Given the description of an element on the screen output the (x, y) to click on. 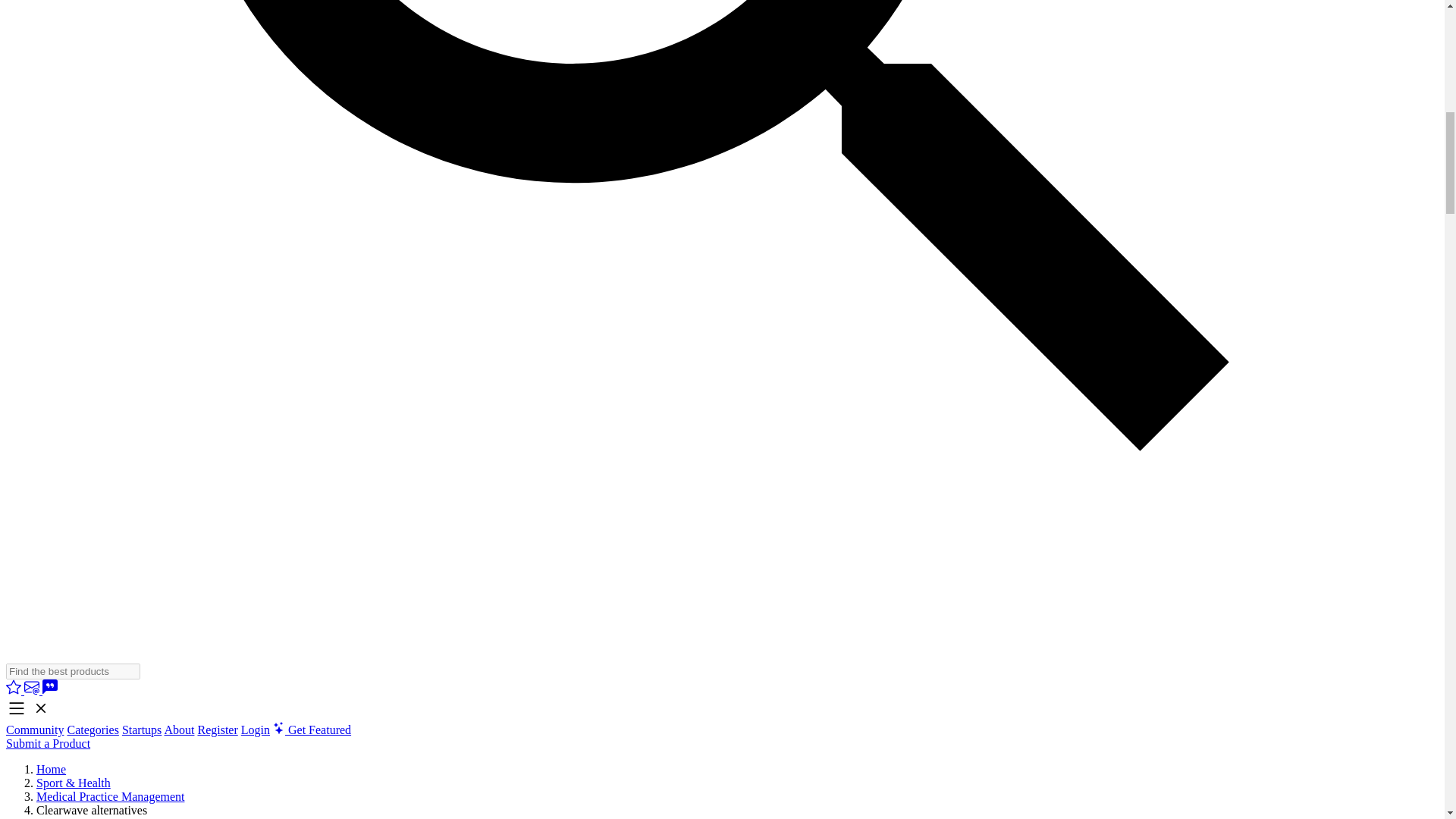
Get Featured (311, 729)
SaaSHub Weekly - our newsletter (33, 689)
Register (216, 729)
Startups (141, 729)
Medical Practice Management (110, 796)
My Saved Products (14, 689)
About (178, 729)
Login (255, 729)
Home (50, 768)
Submit a Product (47, 743)
Community (34, 729)
Categories (91, 729)
